Given the description of an element on the screen output the (x, y) to click on. 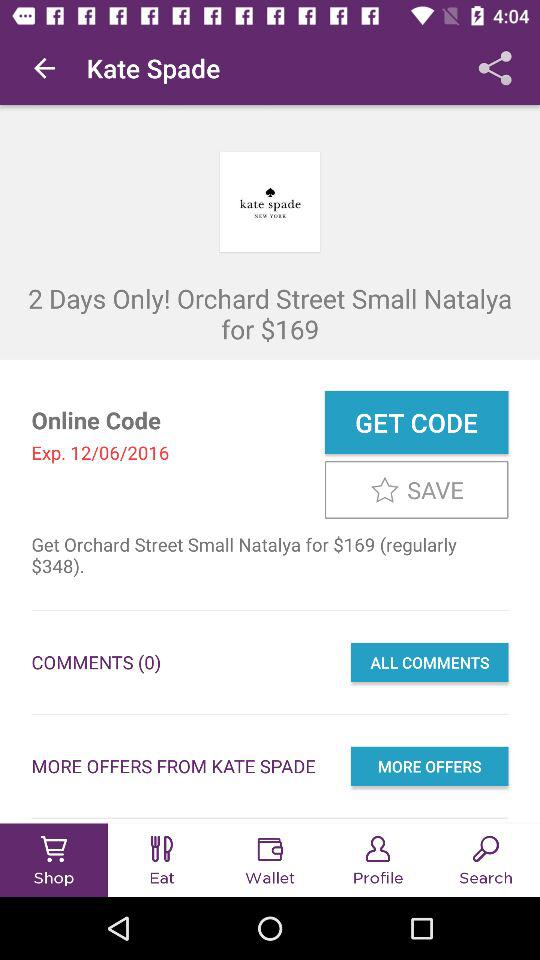
select the item next to the online code (416, 422)
